Given the description of an element on the screen output the (x, y) to click on. 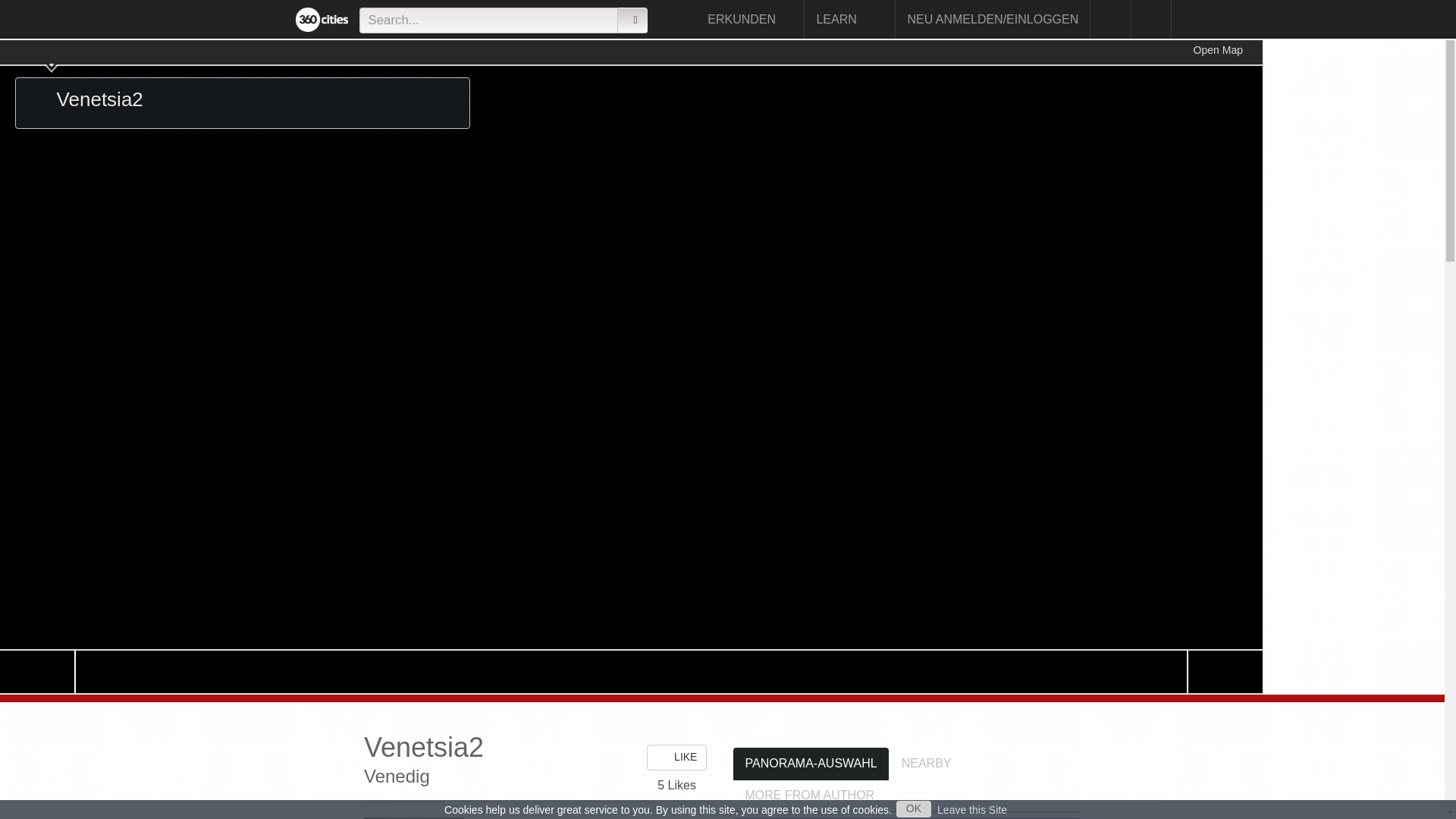
ERKUNDEN (750, 19)
Advertisement (1338, 266)
LEARN (850, 19)
